Given the description of an element on the screen output the (x, y) to click on. 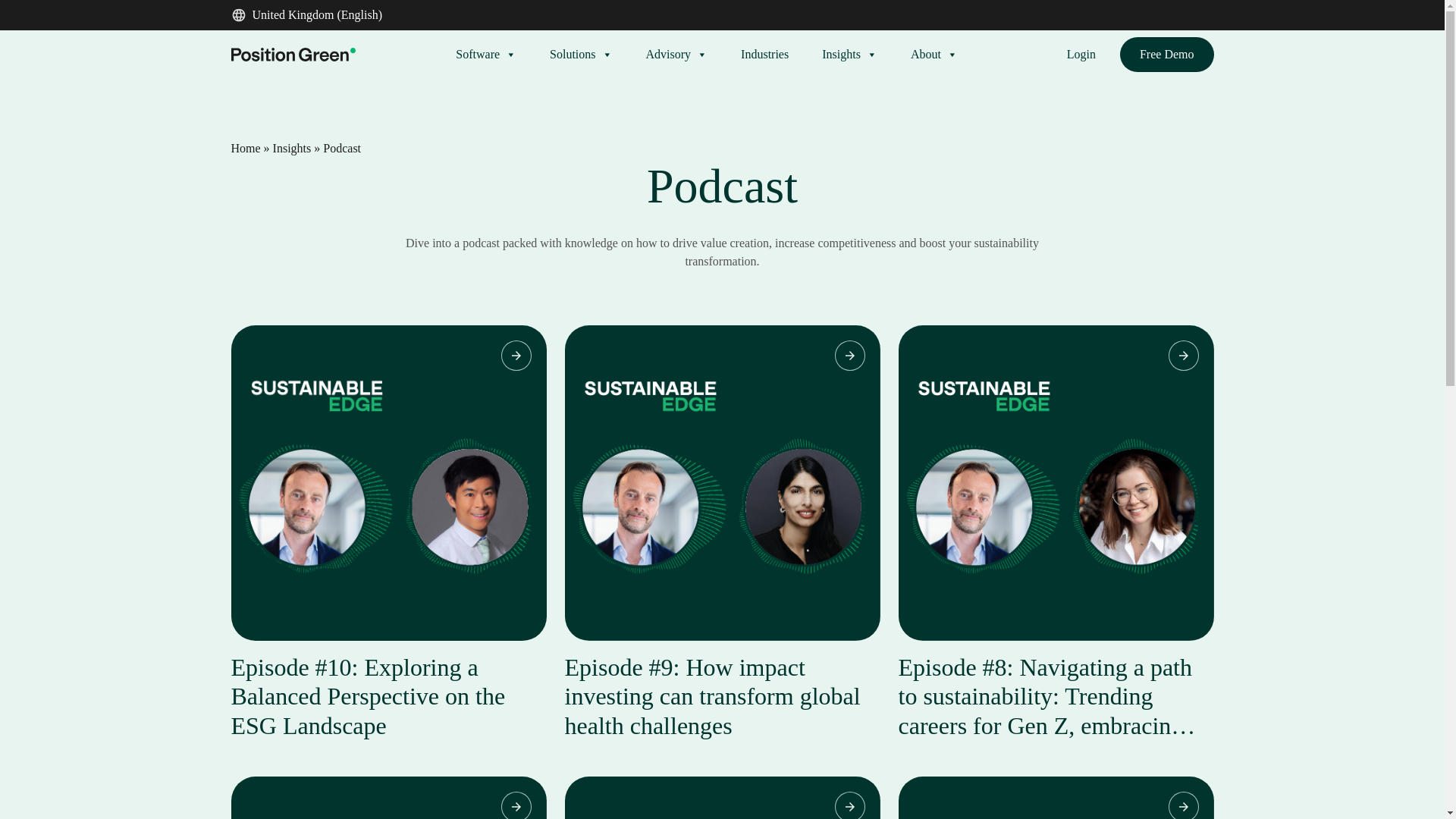
Industries (764, 54)
Solutions (580, 54)
Software (486, 54)
Insights (849, 54)
Advisory (677, 54)
